Given the description of an element on the screen output the (x, y) to click on. 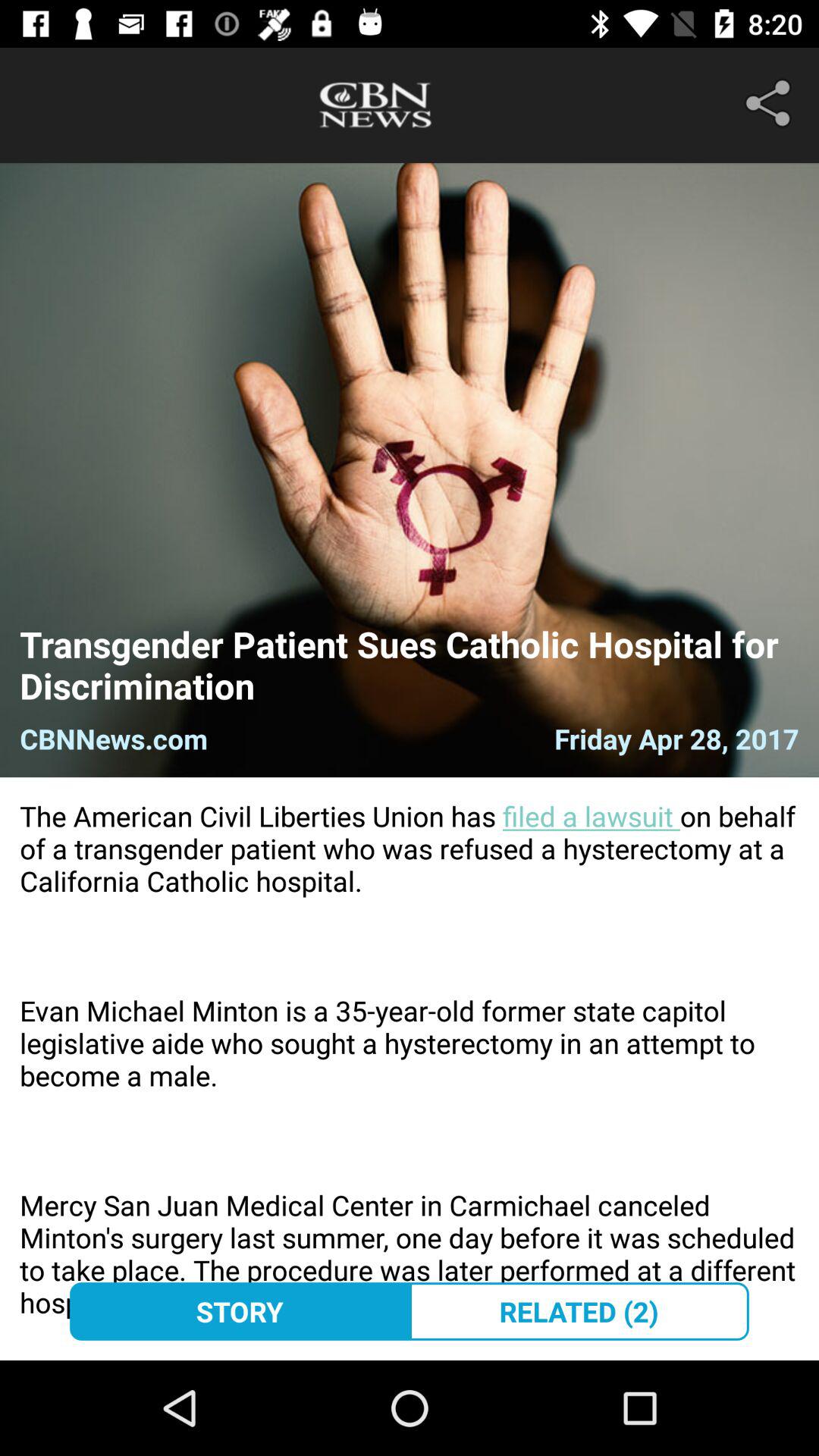
press icon next to the related (2) (239, 1311)
